Given the description of an element on the screen output the (x, y) to click on. 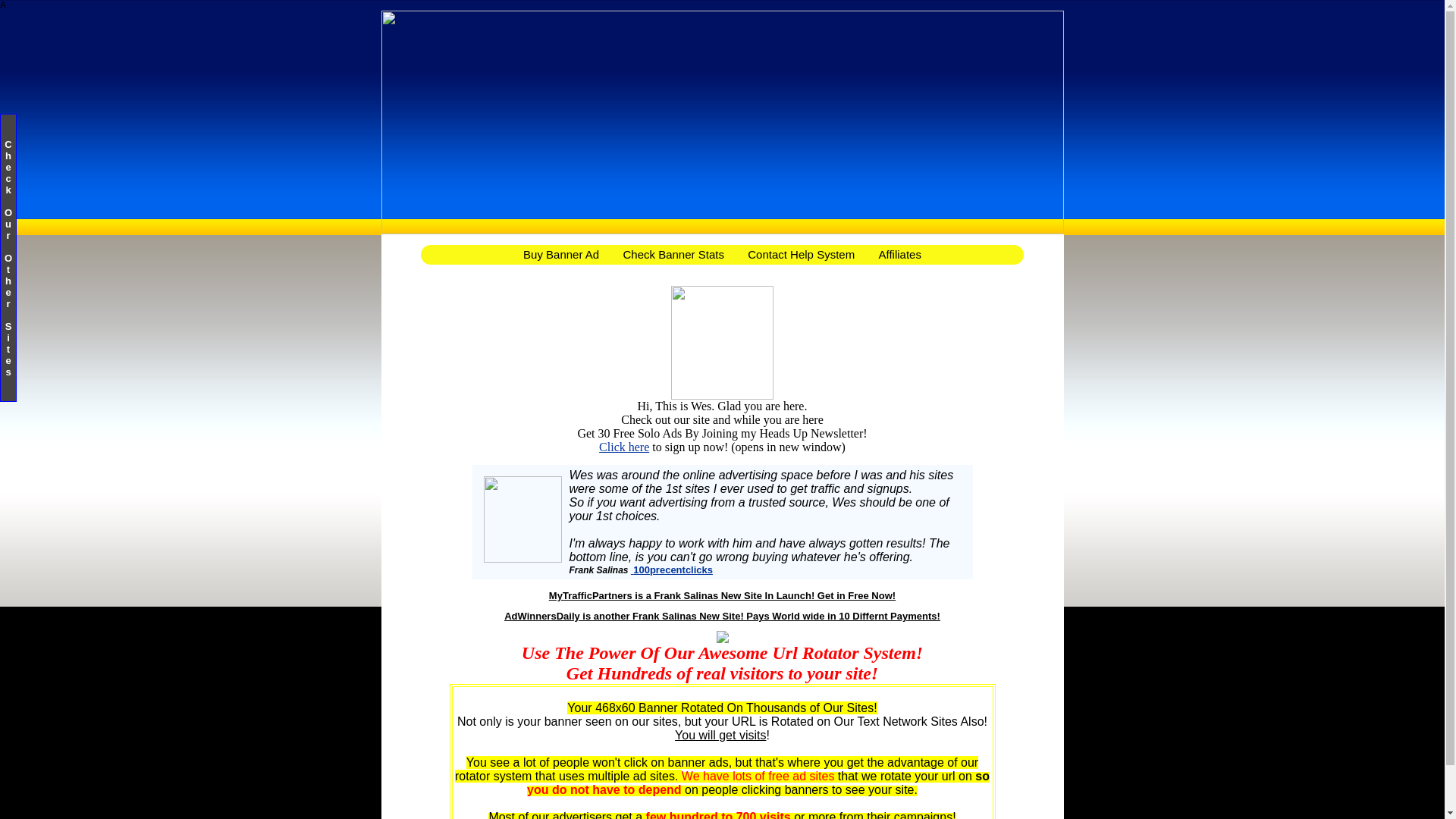
Click here (623, 446)
Check Banner Stats (673, 254)
 100precentclicks (671, 570)
Buy Banner Ad (561, 254)
Affiliates (899, 254)
Contact Help System (800, 254)
